Given the description of an element on the screen output the (x, y) to click on. 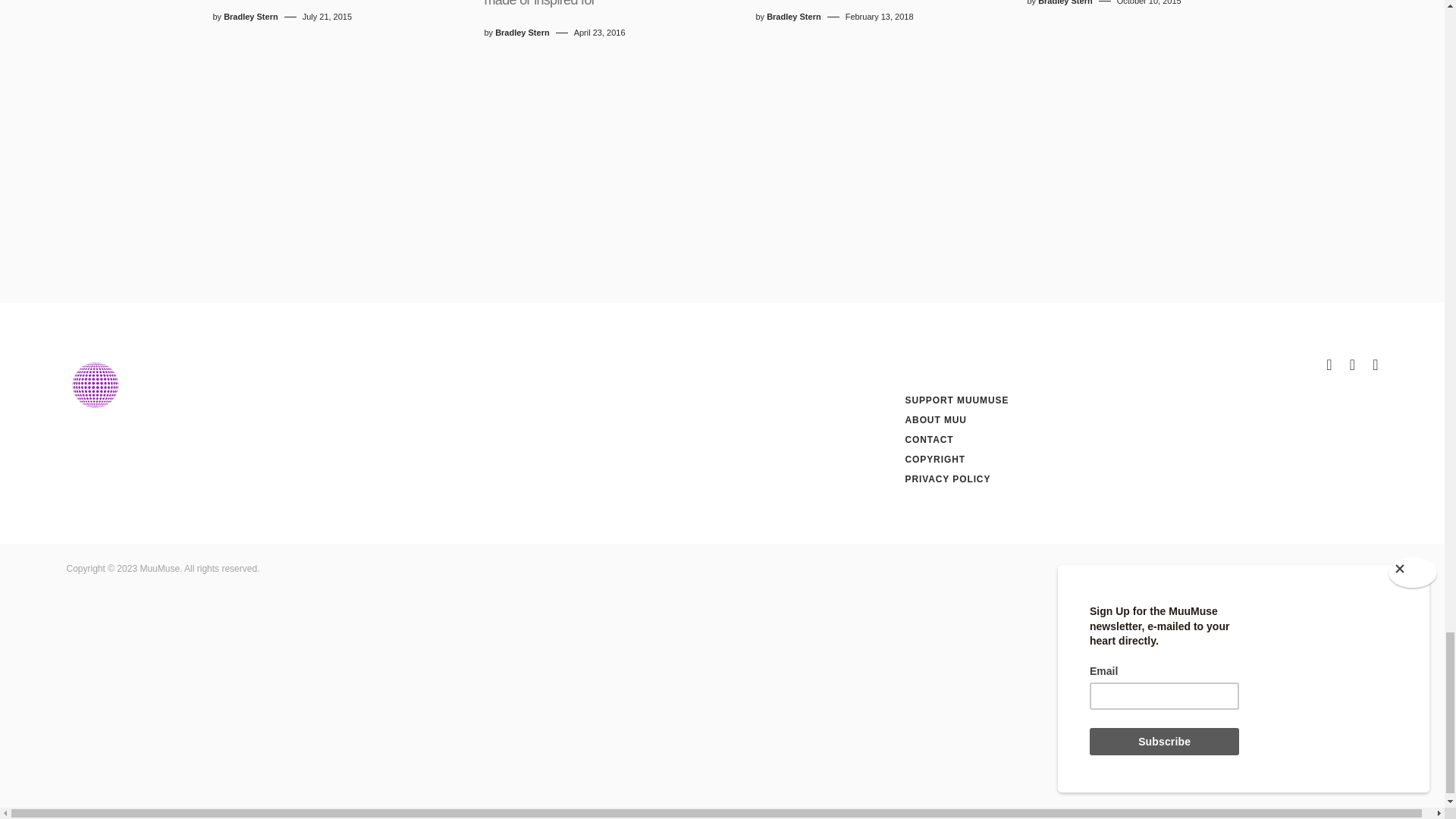
View all posts by Bradley Stern (794, 16)
View all posts by Bradley Stern (522, 32)
View all posts by Bradley Stern (1065, 3)
View all posts by Bradley Stern (251, 16)
